Given the description of an element on the screen output the (x, y) to click on. 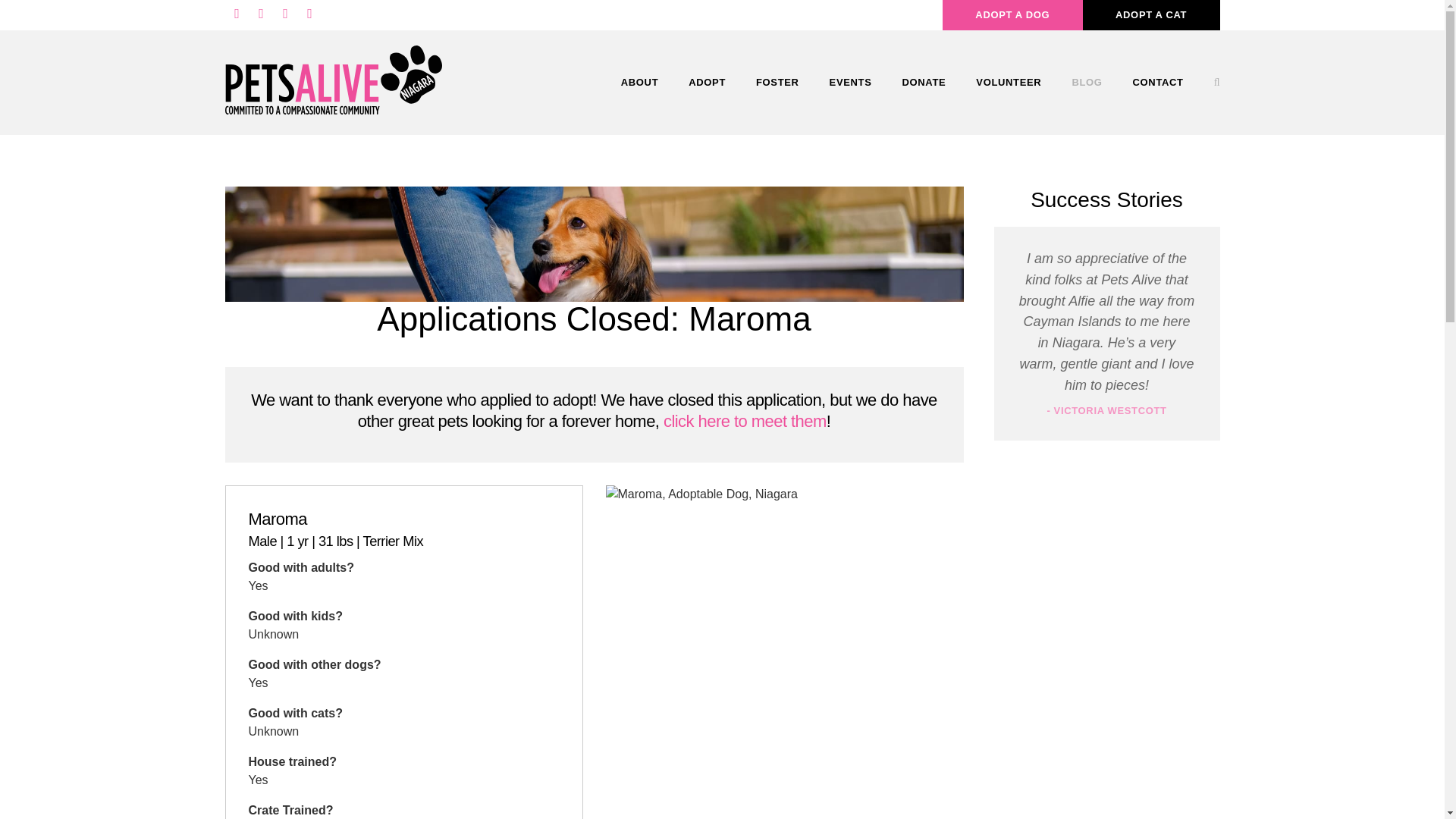
Events (849, 82)
ADOPT A DOG (1012, 16)
About Pets Alive Niagara (638, 82)
click here to meet them (745, 420)
VOLUNTEER (1008, 82)
CONTACT (1158, 82)
DONATE (923, 82)
ABOUT (638, 82)
Foster a Cat or Dog (777, 82)
Adopt a Cat or Dog, NIagara Rescue (706, 82)
